Given the description of an element on the screen output the (x, y) to click on. 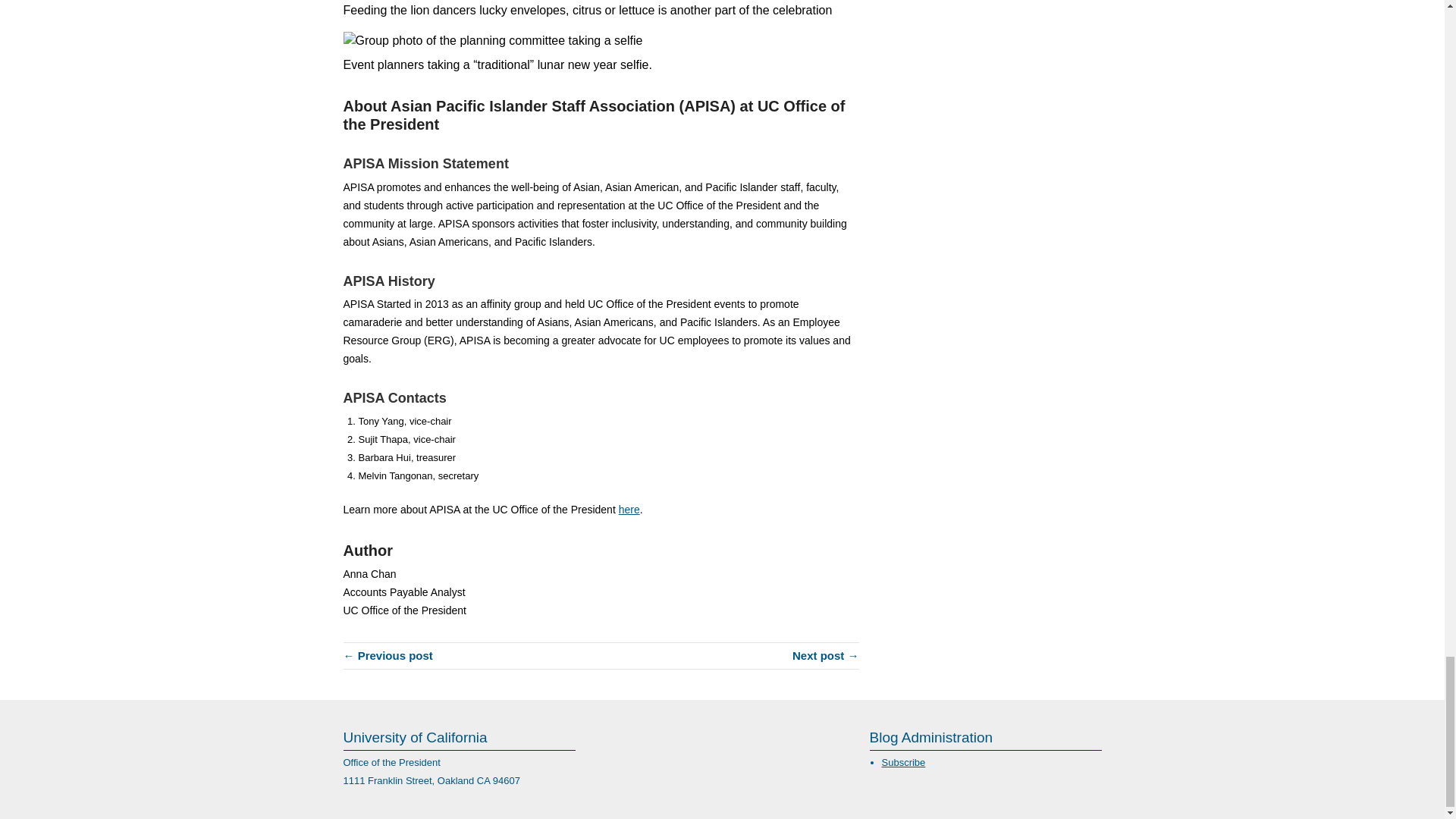
here (629, 509)
